Given the description of an element on the screen output the (x, y) to click on. 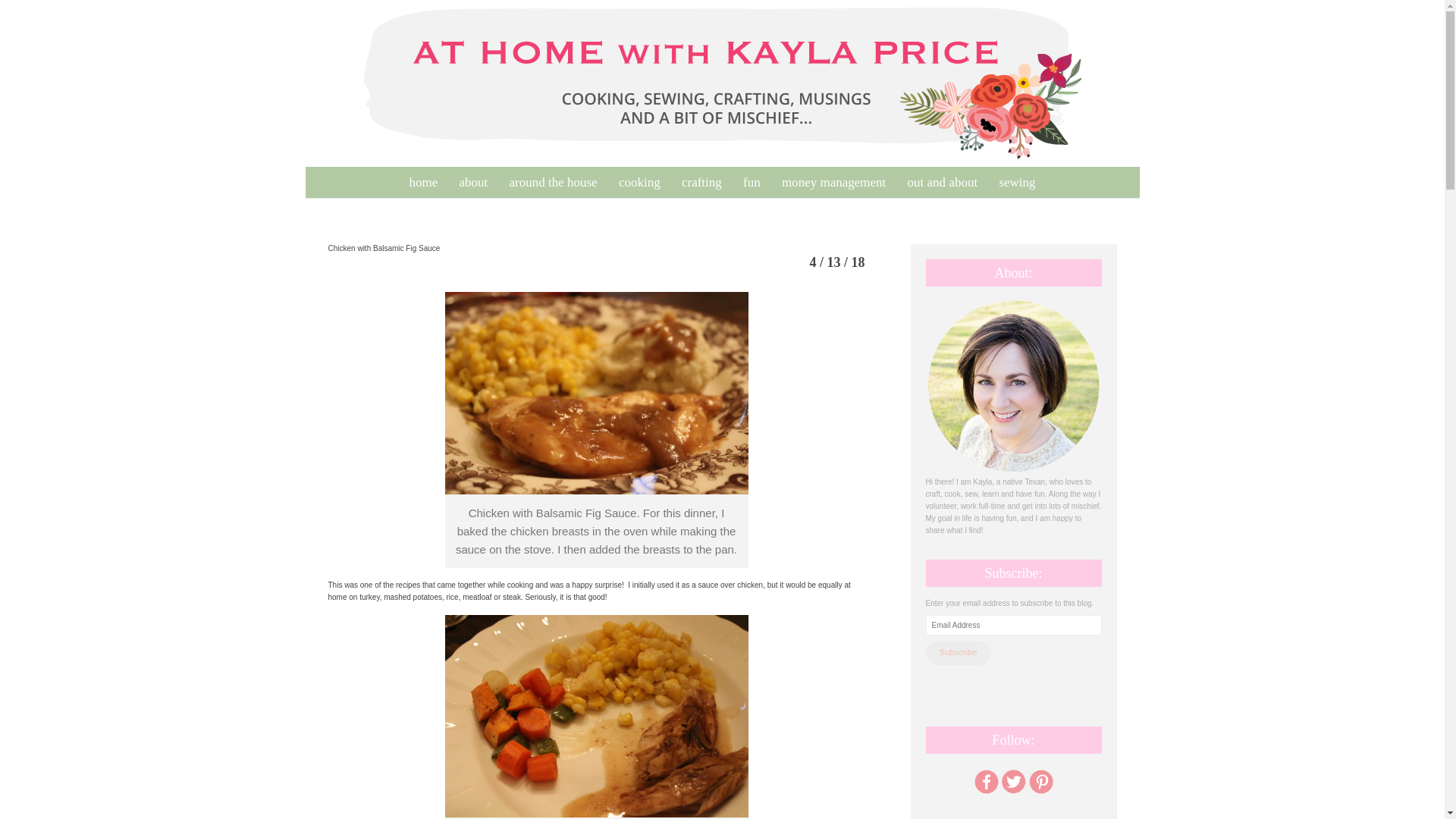
out and about (942, 182)
Twitter (1012, 781)
money management (834, 182)
Pinterest (1040, 781)
home (422, 182)
sewing (1016, 182)
around the house (553, 182)
cooking (639, 182)
about (472, 182)
crafting (701, 182)
Subscribe (957, 652)
Facebook (985, 781)
Search (29, 14)
skip to content (313, 175)
fun (751, 182)
